Given the description of an element on the screen output the (x, y) to click on. 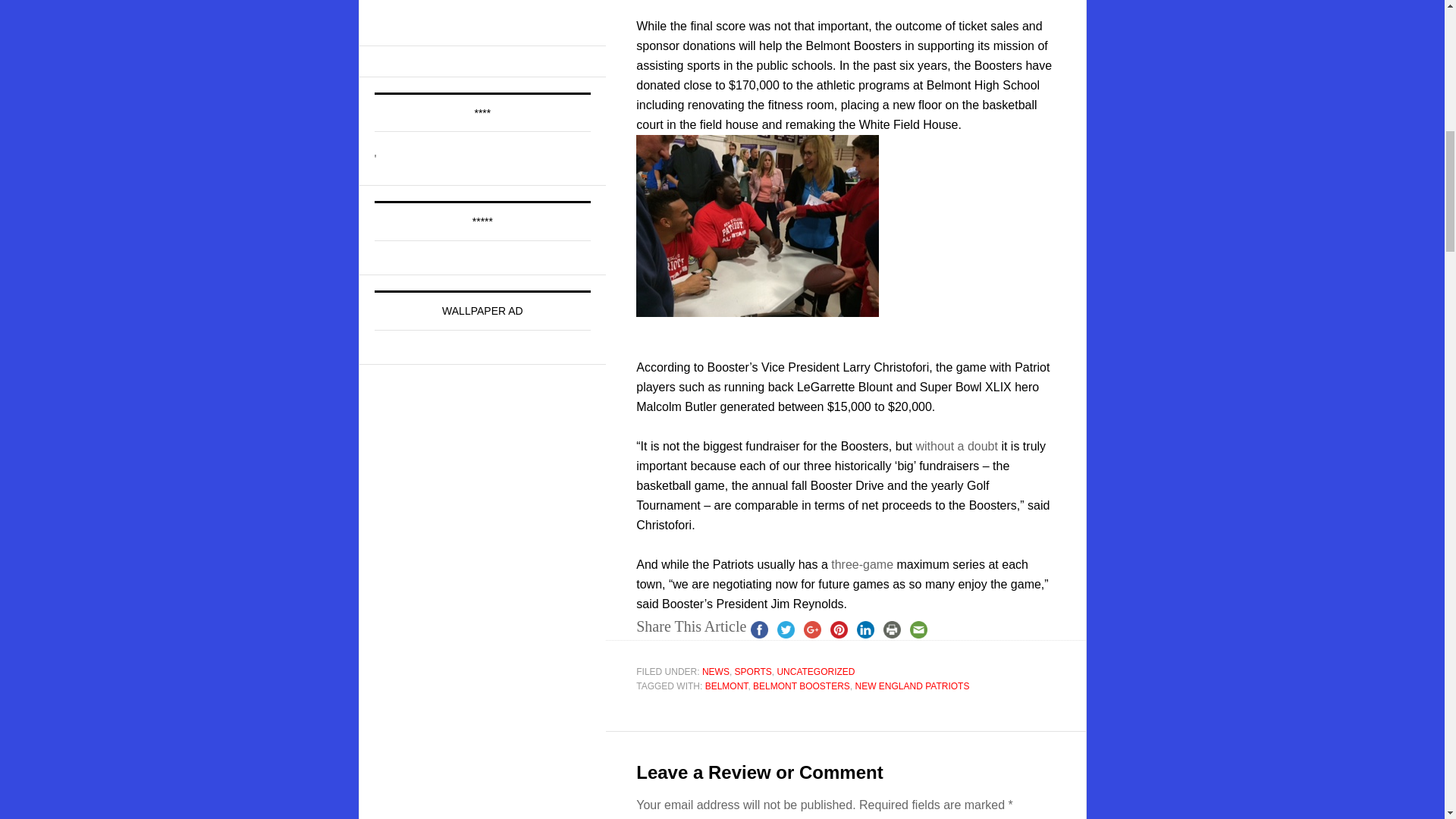
Twitter (786, 629)
NEWS (715, 671)
SPORTS (753, 671)
BELMONT BOOSTERS (801, 685)
NEW ENGLAND PATRIOTS (912, 685)
BELMONT (726, 685)
LinkedIn (865, 629)
Facebook (759, 629)
Email (918, 629)
Pinterest (838, 629)
